Given the description of an element on the screen output the (x, y) to click on. 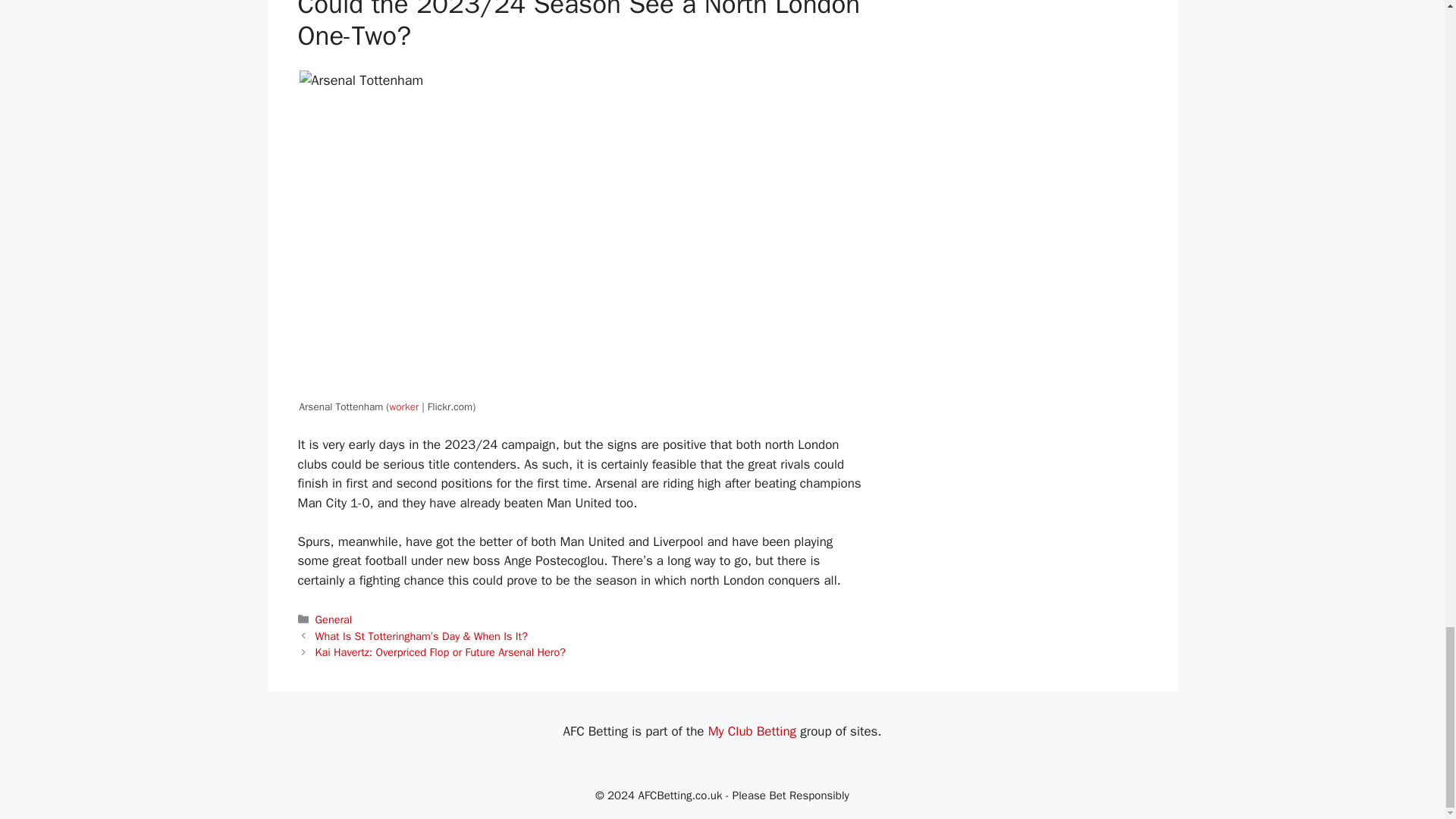
Previous (421, 635)
worker (403, 406)
Kai Havertz: Overpriced Flop or Future Arsenal Hero? (440, 652)
General (333, 619)
Next (440, 652)
